Given the description of an element on the screen output the (x, y) to click on. 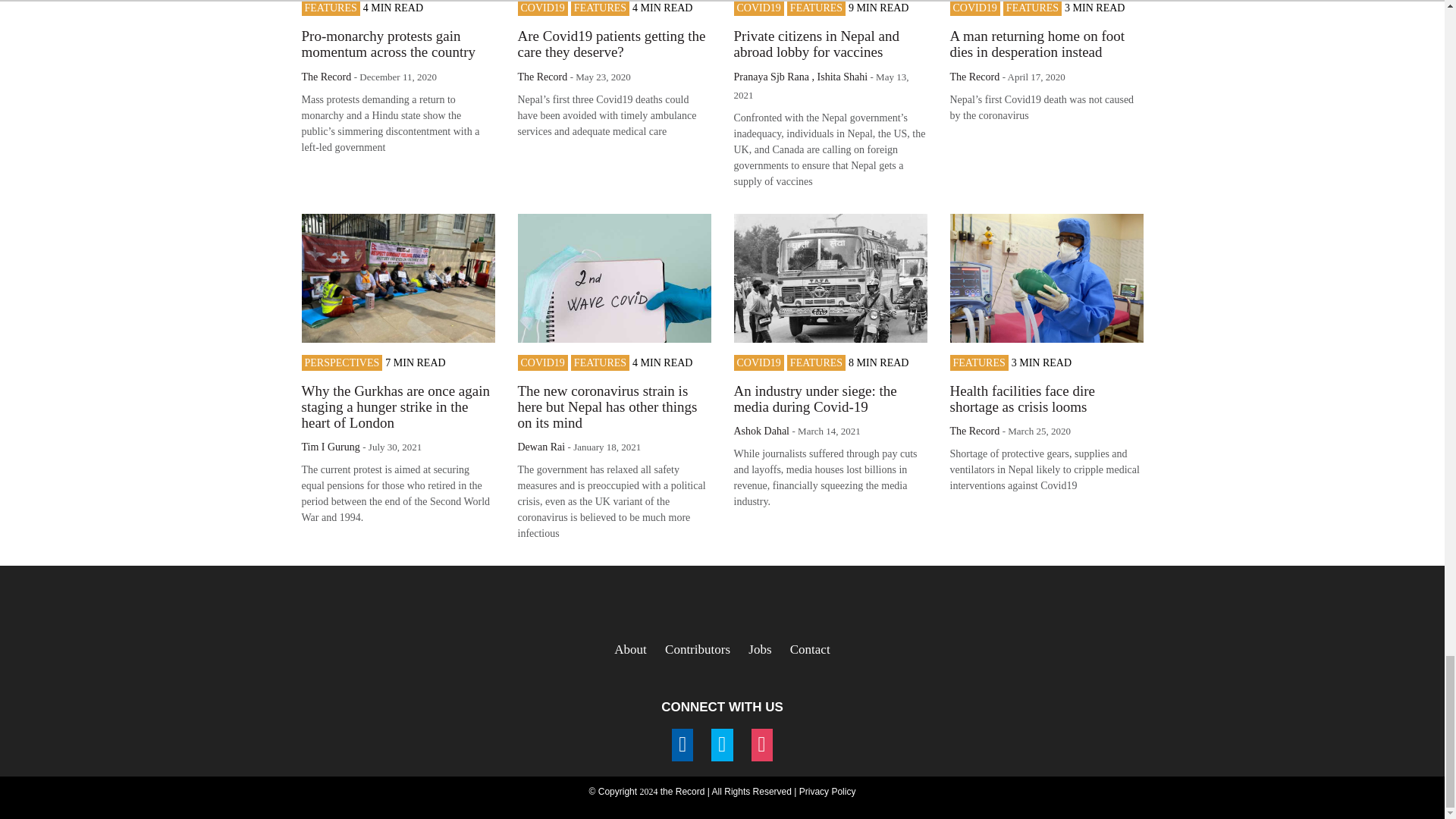
Private citizens in Nepal and abroad lobby for vaccines (816, 43)
Are Covid19 patients getting the care they deserve? (610, 43)
Pro-monarchy protests gain momentum across the country (388, 43)
